Given the description of an element on the screen output the (x, y) to click on. 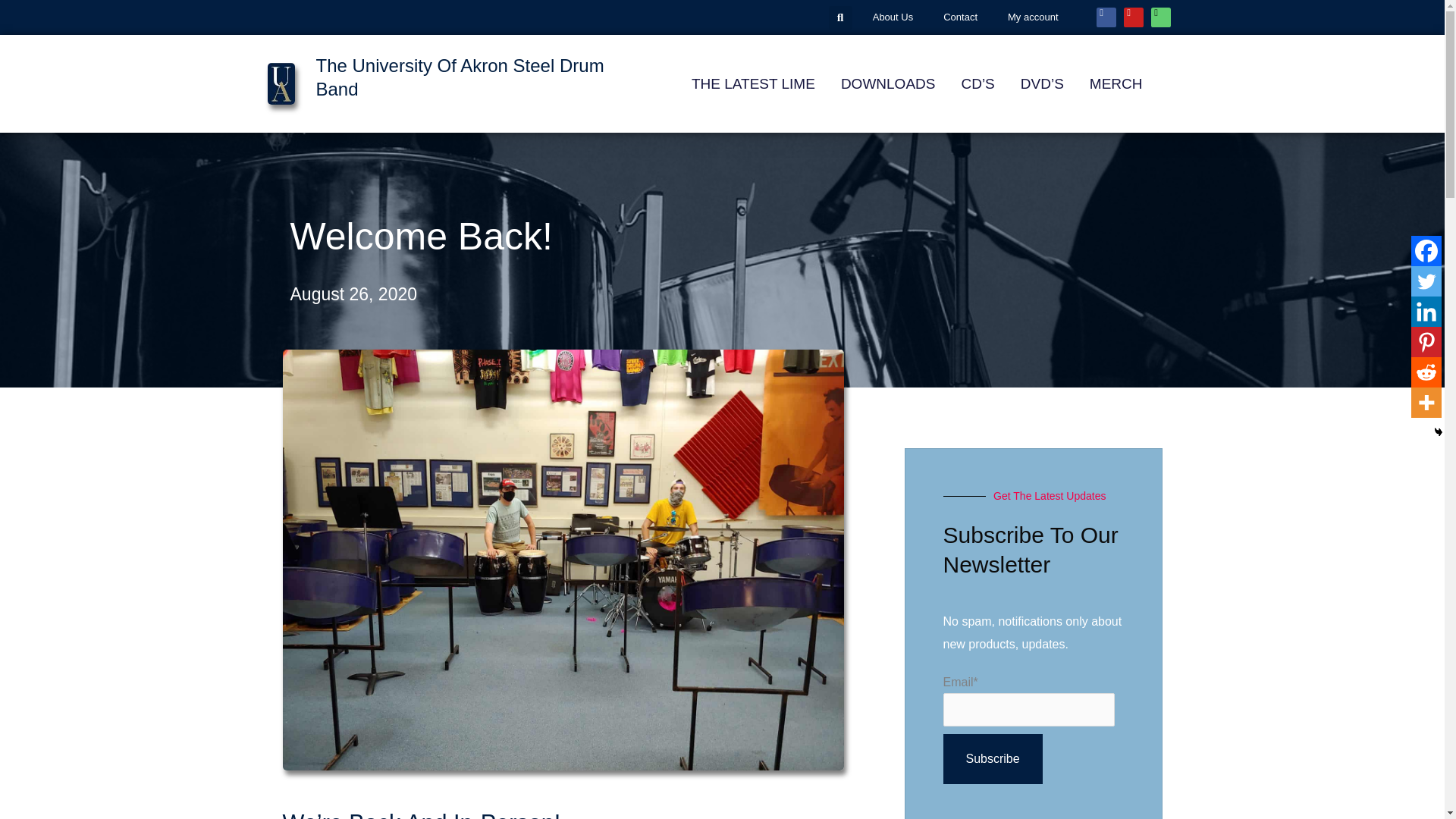
Facebook (1106, 17)
Instagram (1160, 17)
Linkedin (1425, 311)
Twitter (1425, 281)
Subscribe (992, 758)
More (1425, 402)
My account (1032, 17)
About Us (892, 17)
Youtube (1133, 17)
Reddit (1425, 372)
DOWNLOADS (888, 83)
Facebook (1425, 250)
The University Of Akron Steel Drum Band (459, 77)
Pinterest (1425, 341)
THE LATEST LIME (753, 83)
